Given the description of an element on the screen output the (x, y) to click on. 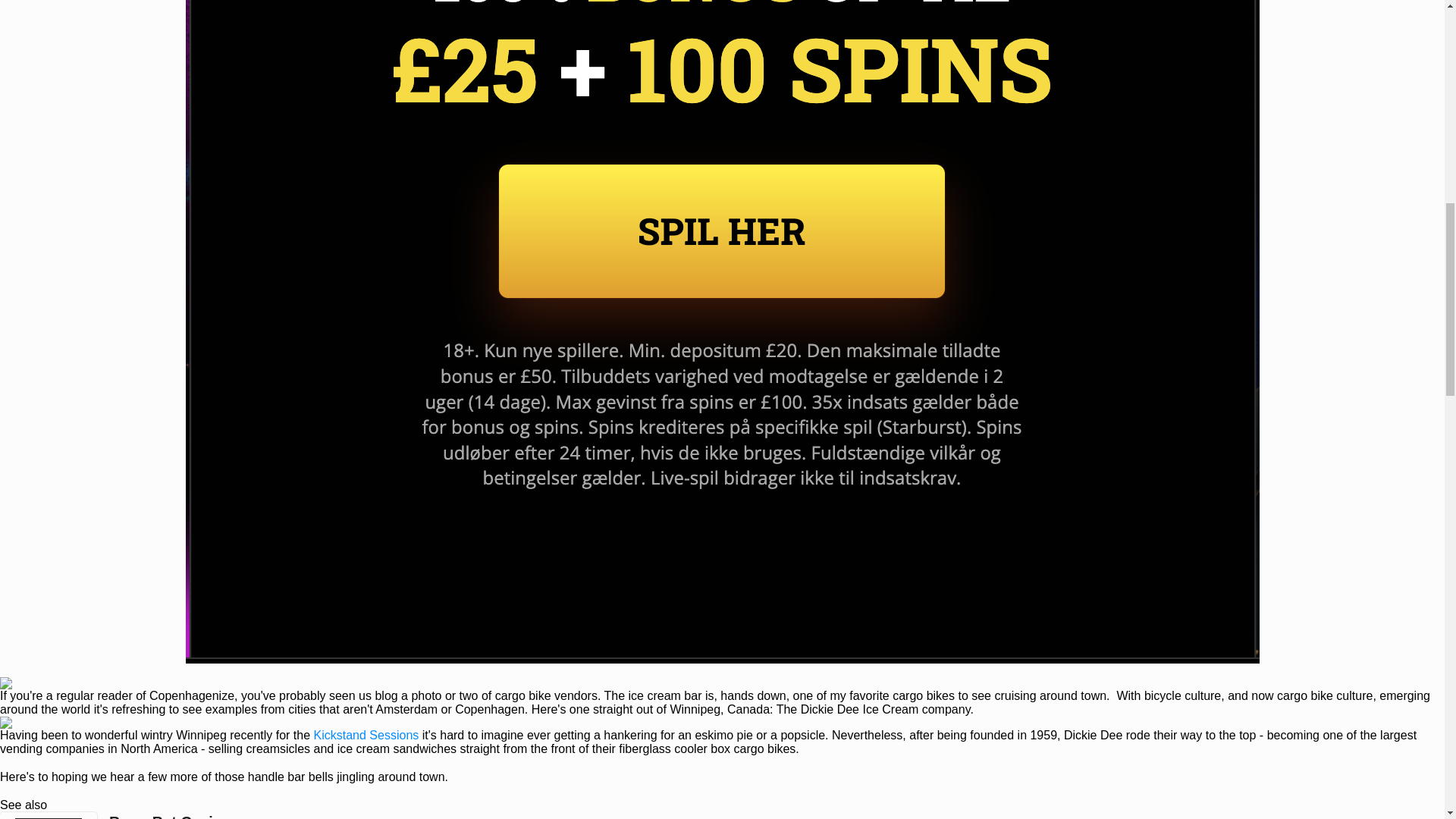
Kickstand Sessions (366, 735)
